Given the description of an element on the screen output the (x, y) to click on. 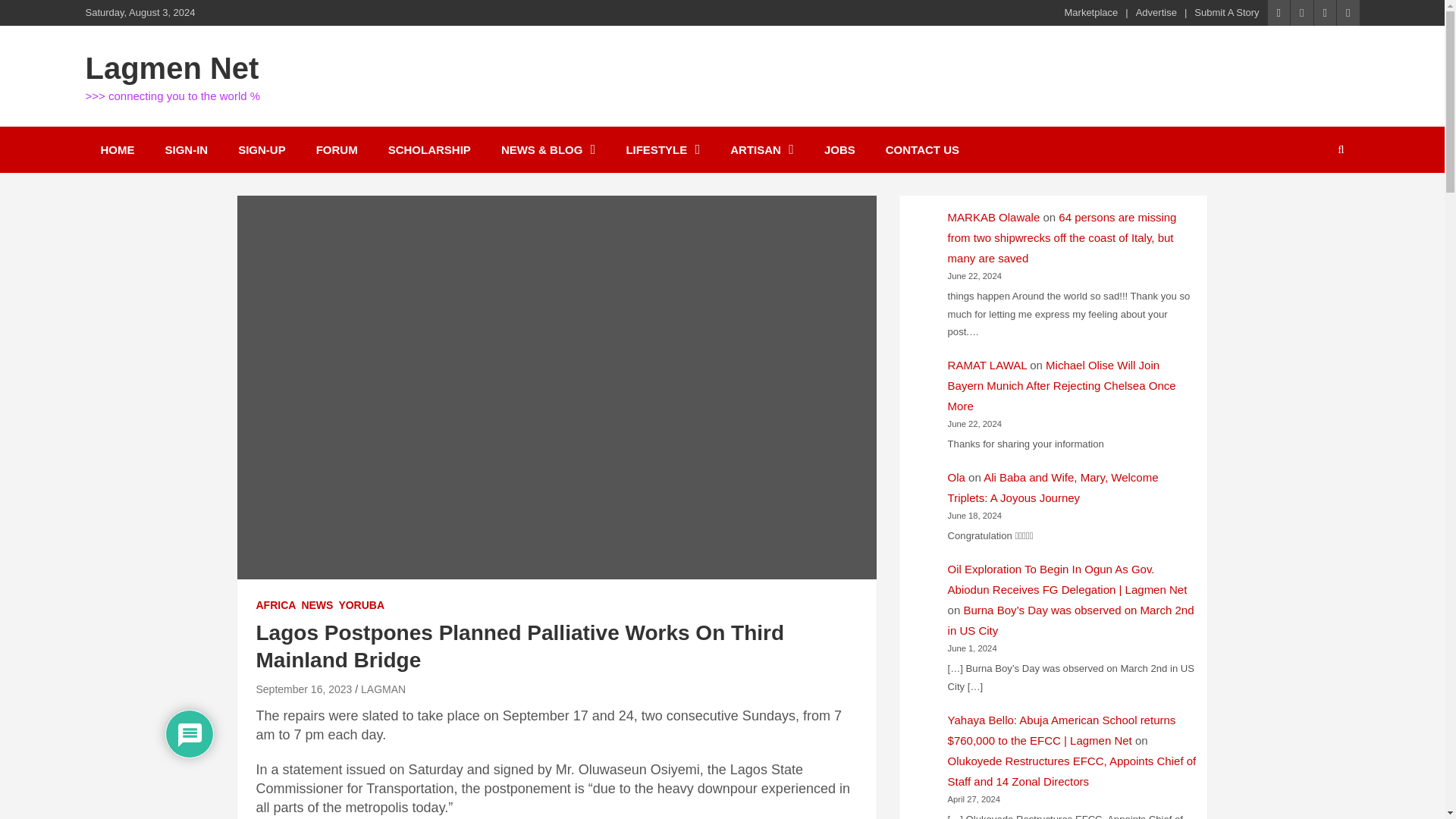
JOBS (839, 149)
NEWS (317, 605)
LAGMAN (383, 689)
FORUM (336, 149)
LIFESTYLE (662, 149)
ARTISAN (761, 149)
Lagmen Net (171, 68)
HOME (116, 149)
CONTACT US (922, 149)
